Given the description of an element on the screen output the (x, y) to click on. 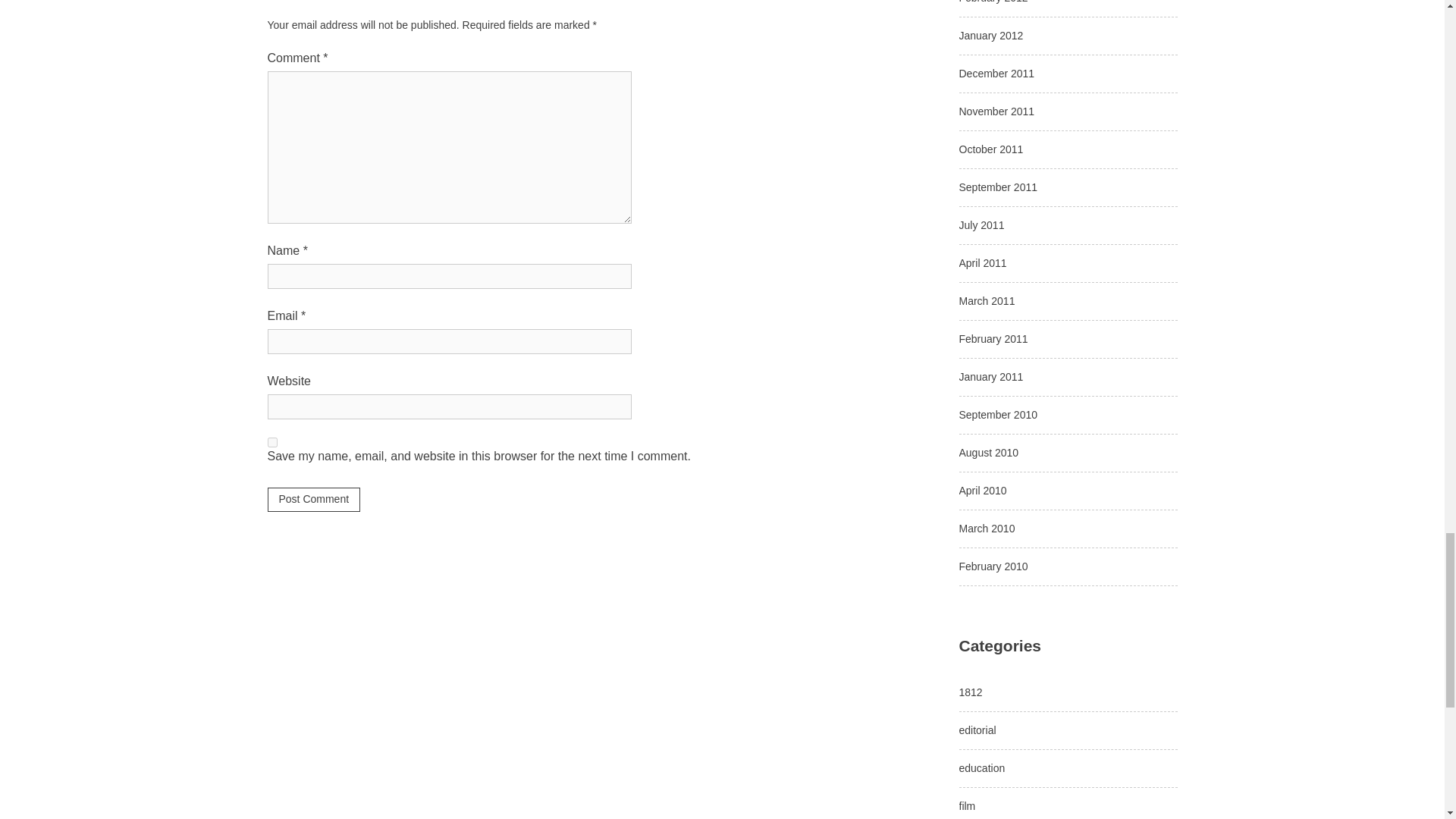
yes (271, 442)
Post Comment (312, 499)
Post Comment (312, 499)
